Given the description of an element on the screen output the (x, y) to click on. 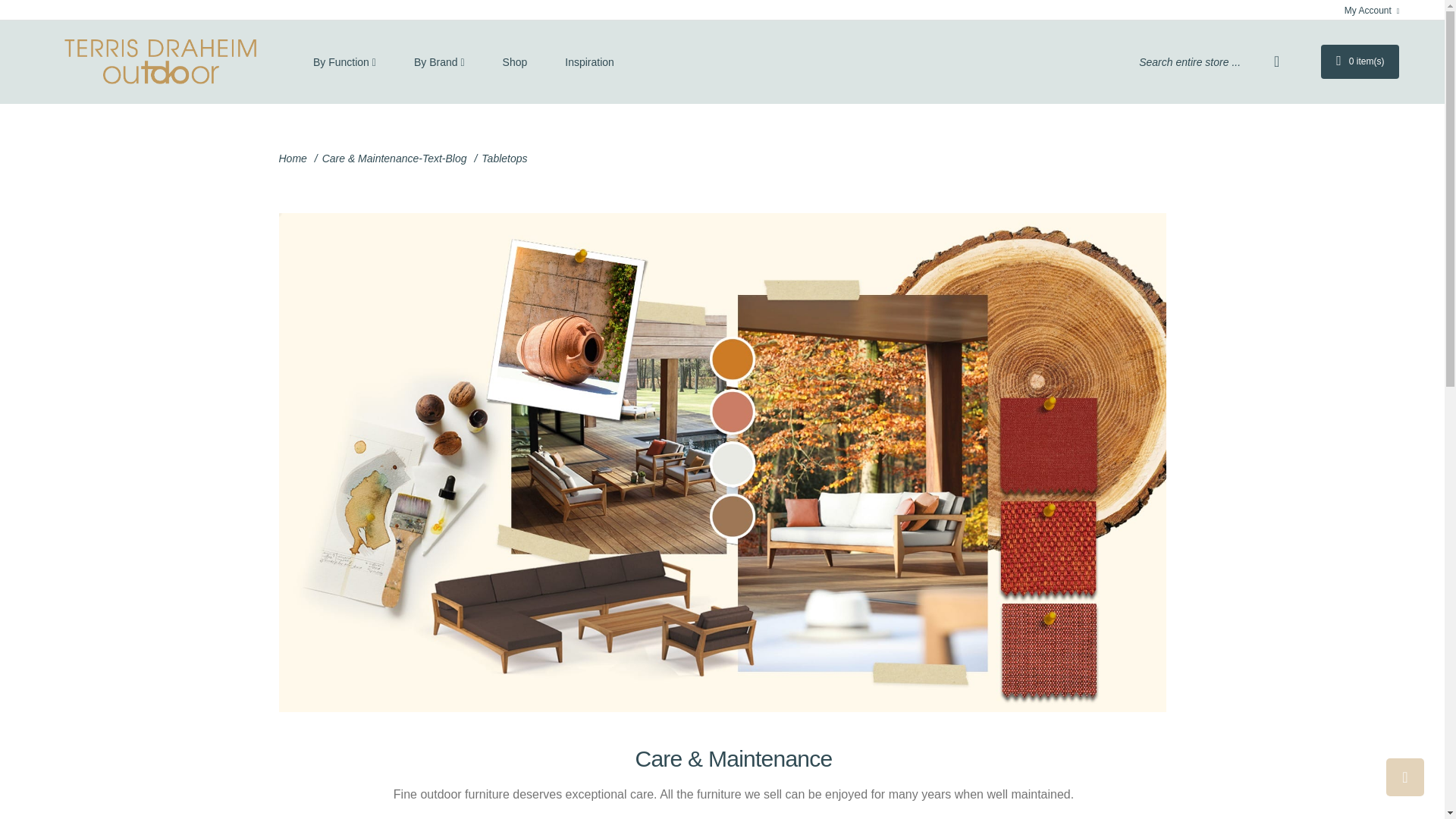
Inspiration (589, 62)
By Brand (438, 62)
My Account (1371, 10)
By Function (353, 62)
